Given the description of an element on the screen output the (x, y) to click on. 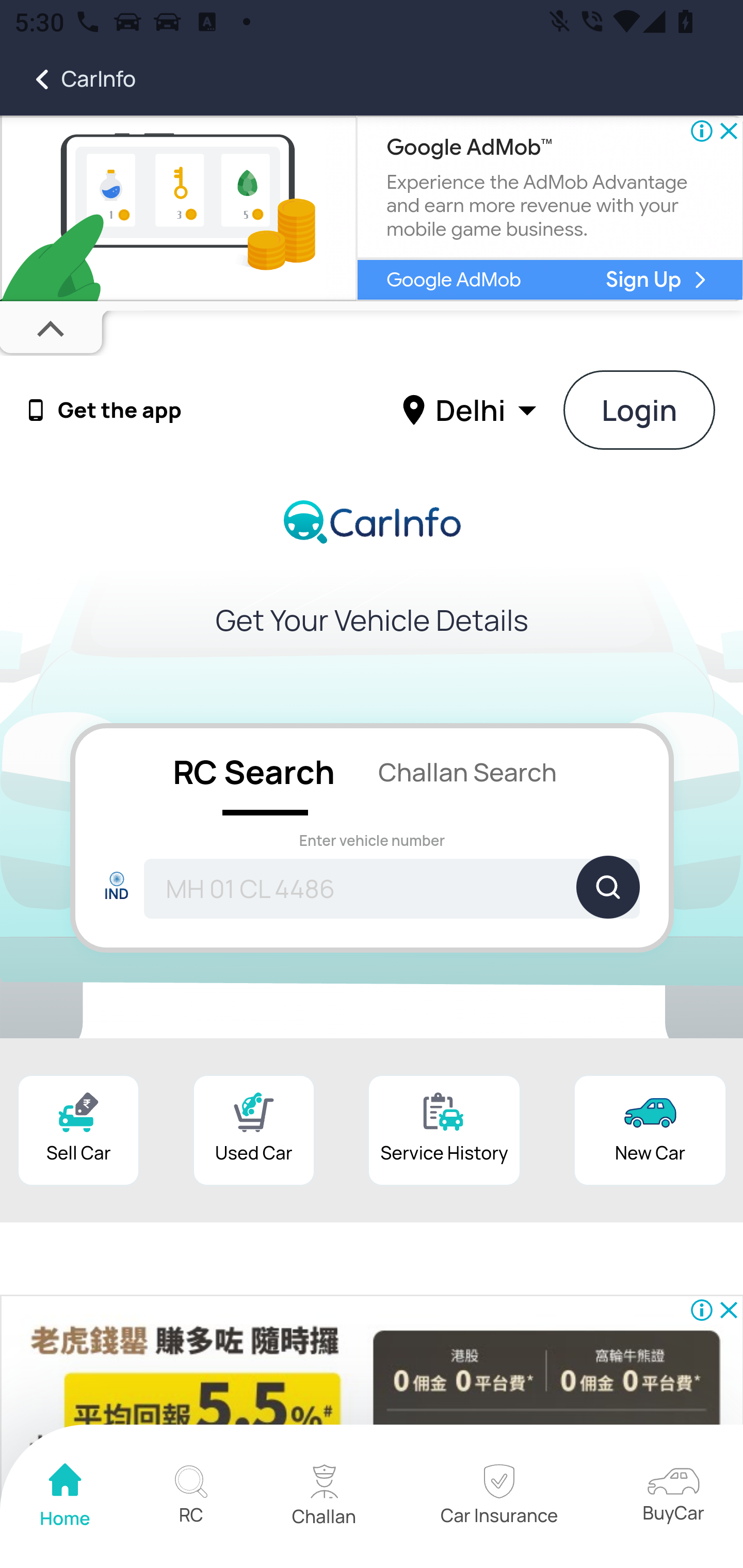
CarInfo (67, 79)
Google AdMob™ (468, 148)
Google AdMob (452, 278)
Sign Up (643, 279)
Login (639, 409)
Delhi (471, 408)
Get the app (119, 410)
RC Search (253, 771)
Challan Search (467, 771)
sell car Sell Car (77, 1129)
 CarInfo Used Car Used Car (253, 1129)
carInfo service history Service History (444, 1129)
new car New Car new car New Car (649, 1129)
new car New Car (649, 1129)
home (65, 1496)
home Challan home Challan (323, 1496)
home RC home RC (190, 1496)
home Car Insurance home Car Insurance (498, 1497)
home BuyCar home BuyCar (672, 1496)
